Given the description of an element on the screen output the (x, y) to click on. 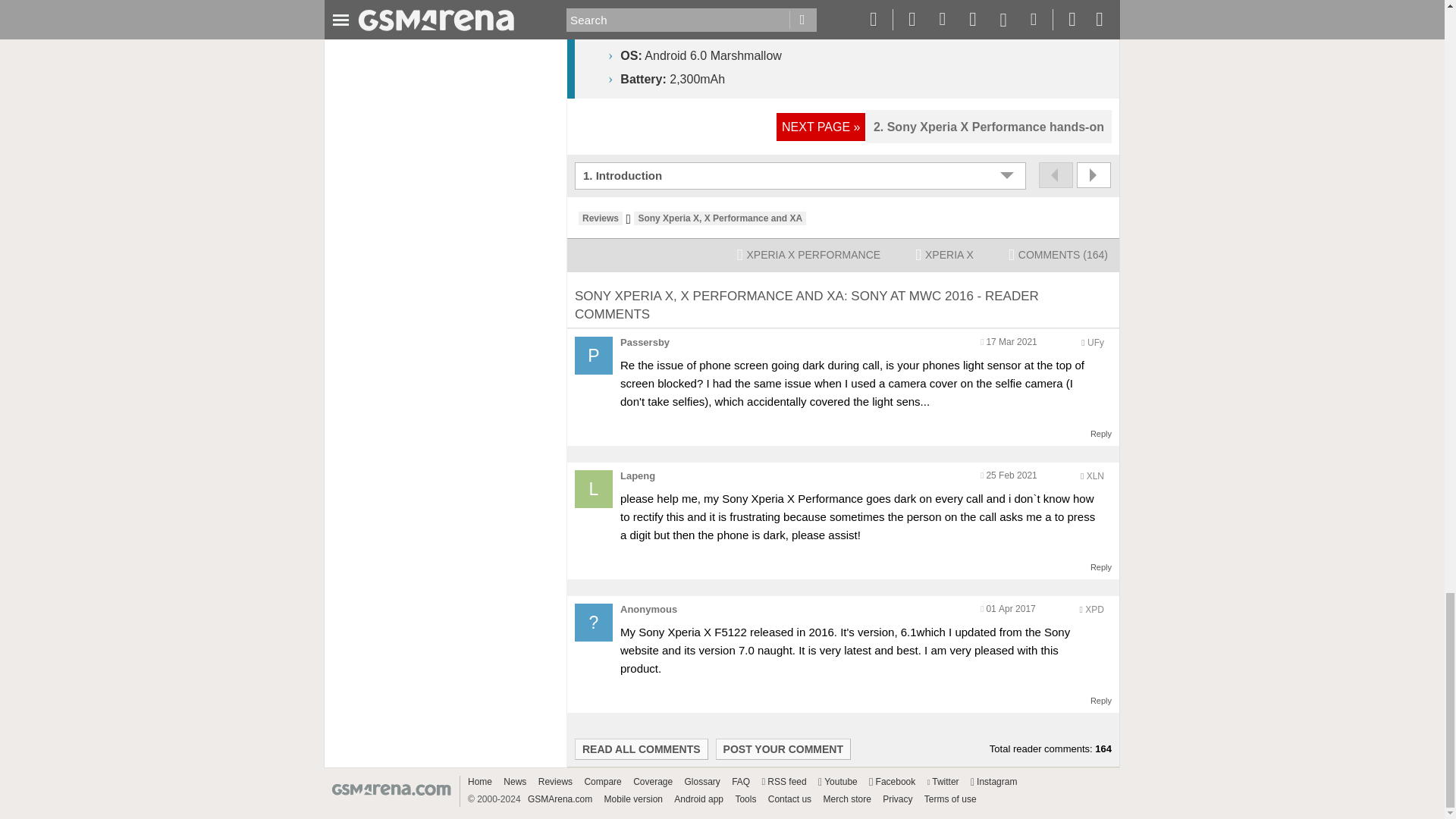
Previous page (1056, 175)
Encoded anonymized location (1094, 475)
Encoded anonymized location (1095, 342)
Reply to this post (1101, 700)
Encoded anonymized location (1093, 609)
Reply to this post (1101, 566)
1. Introduction (802, 176)
Next page (1093, 175)
Reply to this post (1101, 433)
